Given the description of an element on the screen output the (x, y) to click on. 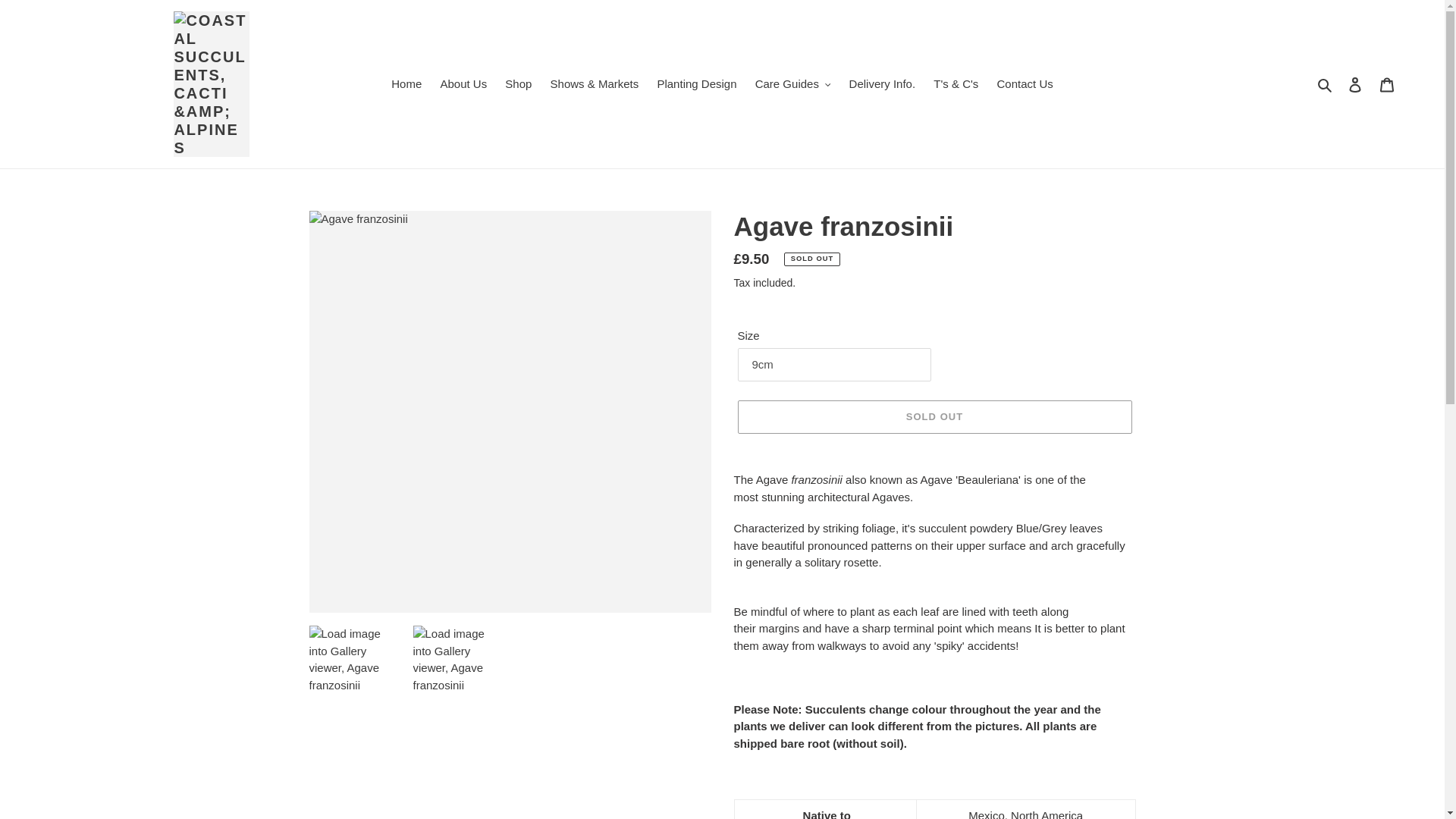
Contact Us (1025, 84)
Shop (517, 84)
Cart (1387, 83)
Home (406, 84)
Planting Design (696, 84)
About Us (463, 84)
Care Guides (793, 84)
Log in (1355, 83)
Delivery Info. (882, 84)
Search (1326, 84)
